Given the description of an element on the screen output the (x, y) to click on. 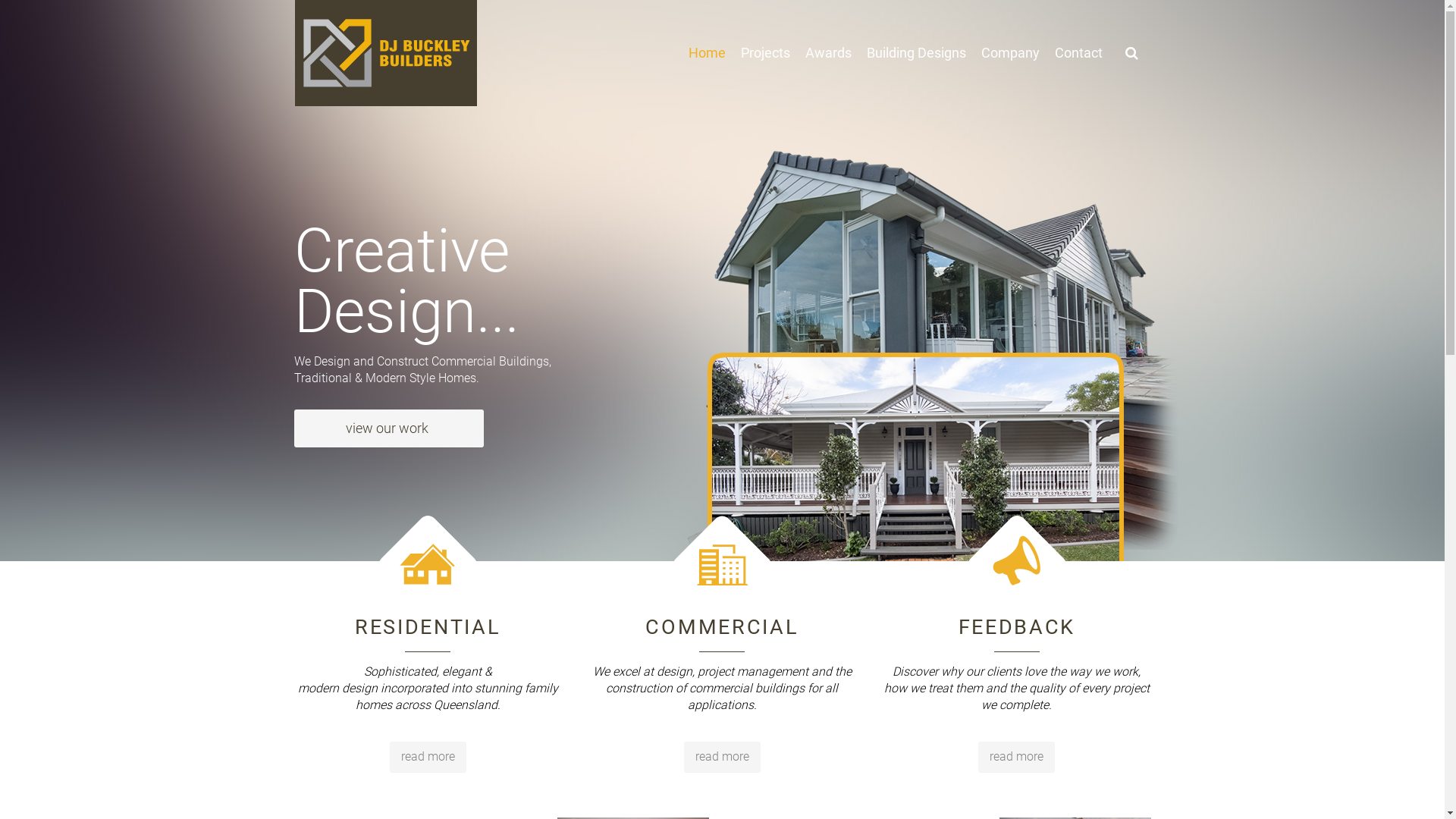
COMMERCIAL Element type: text (721, 627)
view our work  Element type: text (388, 421)
Commercial Projects, DJ Buckley Builders Toowoomba Element type: hover (721, 586)
Feedback, DJ Buckley Builders Toowoomba Element type: hover (1016, 586)
FEEDBACK Element type: text (1017, 627)
read more Element type: text (1016, 756)
Building Designs Element type: text (915, 53)
RESIDENTIAL Element type: text (427, 627)
read more Element type: text (427, 756)
Home Element type: text (706, 53)
Contact Element type: text (1077, 53)
read more Element type: text (722, 756)
Awards Element type: text (828, 53)
view our work  Element type: text (388, 428)
Projects Element type: text (764, 53)
Residential Projects, DJ Buckley Builders Toowoomba Element type: hover (427, 586)
Company Element type: text (1010, 53)
